Given the description of an element on the screen output the (x, y) to click on. 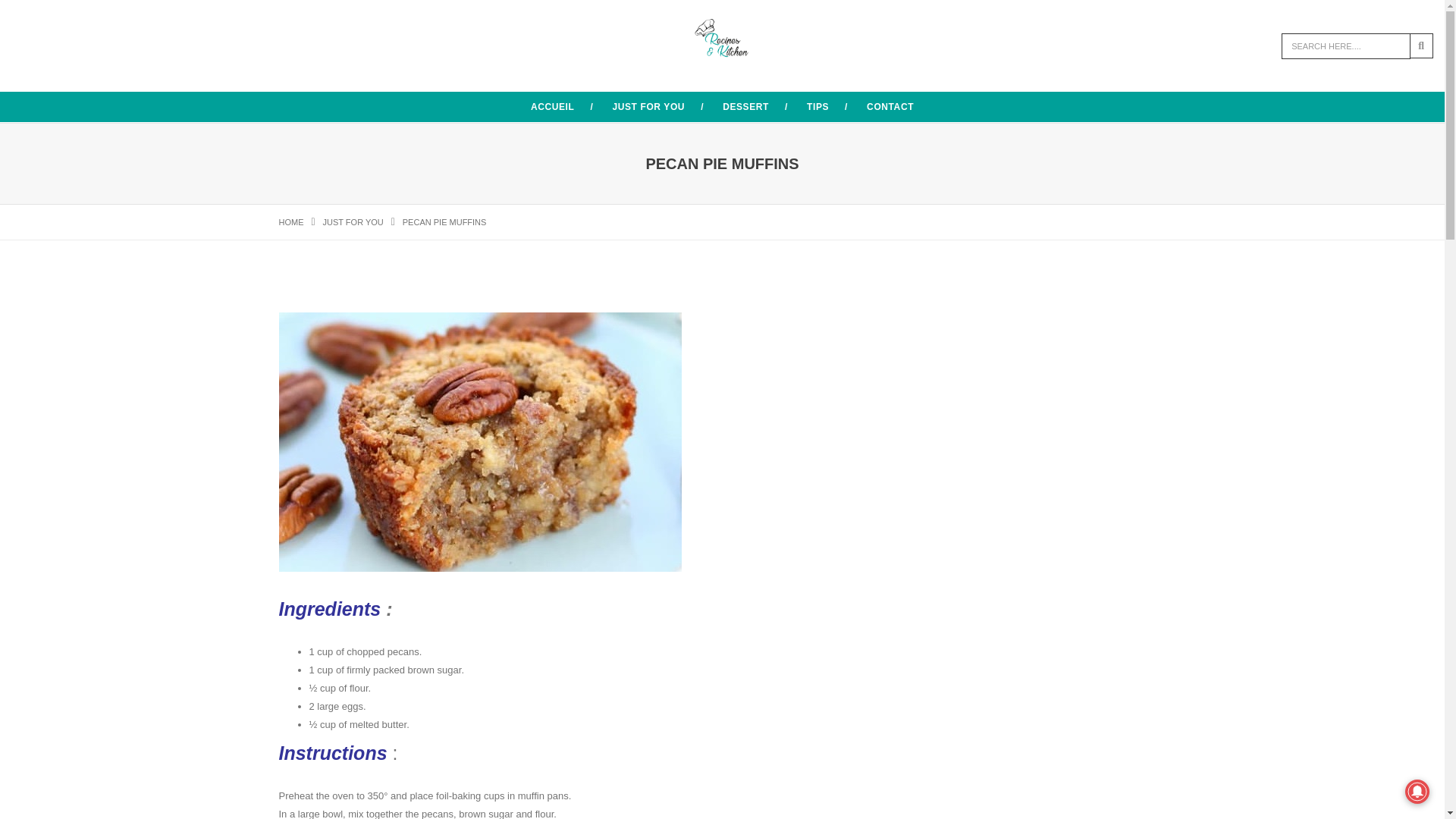
Browse to: Home (291, 221)
DESSERT (745, 106)
JUST FOR YOU (353, 221)
HOME (291, 221)
JUST FOR YOU (647, 106)
CONTACT (890, 106)
TIPS (817, 106)
ACCUEIL (553, 106)
JUST FOR YOU (353, 221)
